Given the description of an element on the screen output the (x, y) to click on. 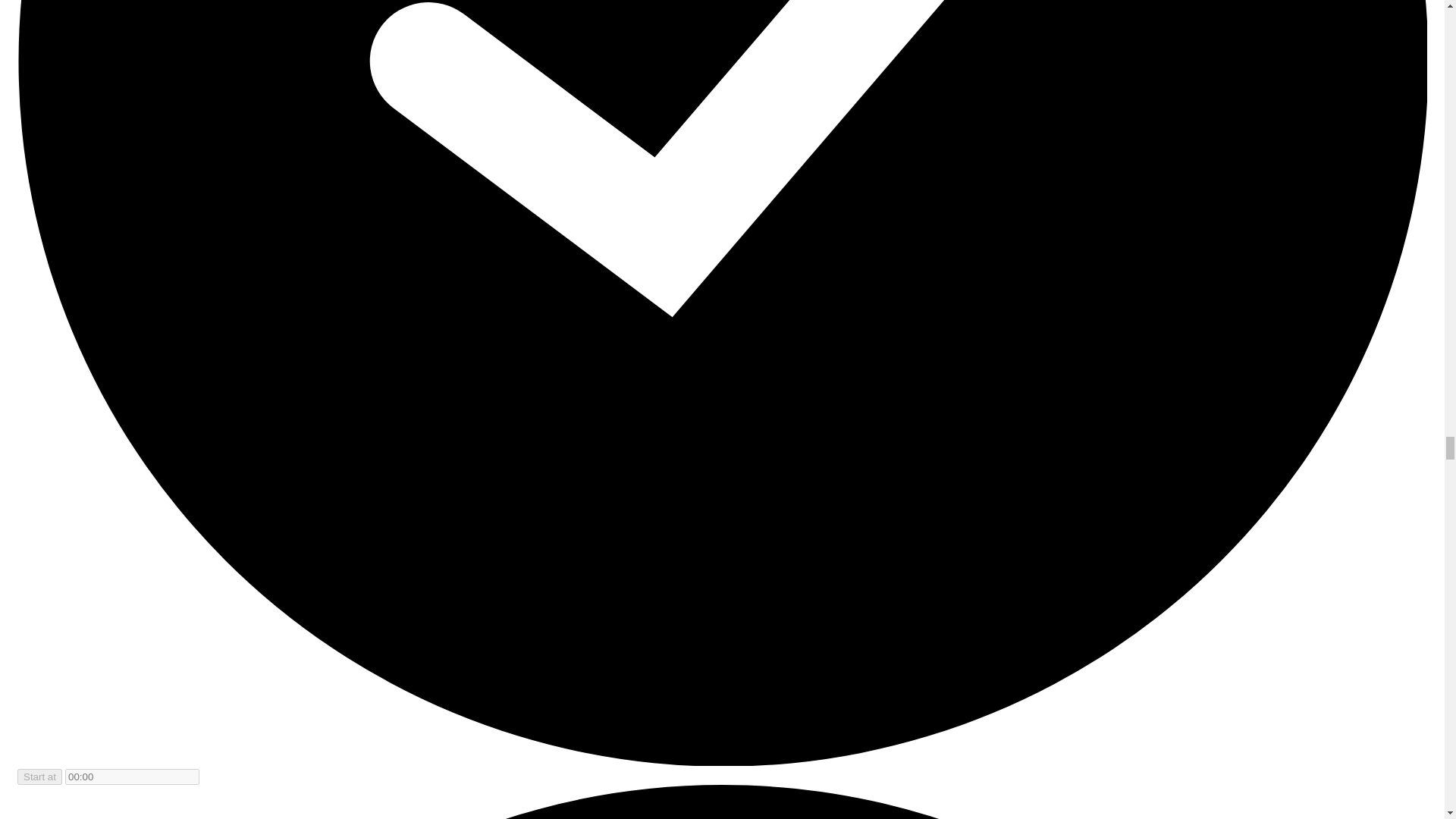
Start at (39, 776)
